Given the description of an element on the screen output the (x, y) to click on. 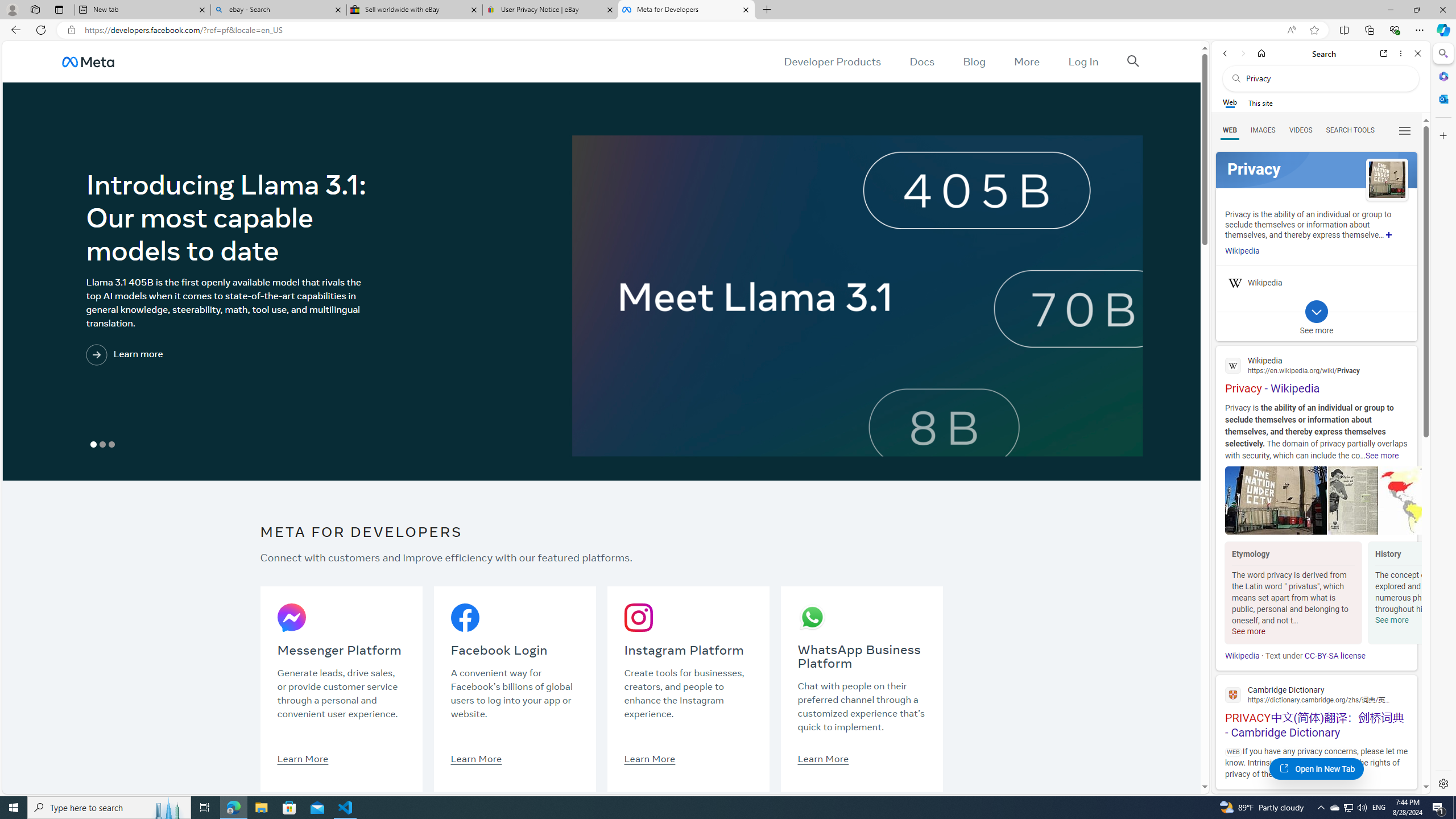
IMAGES (1262, 130)
WEB   (1230, 130)
Open link in new tab (1383, 53)
Show more (1388, 234)
Side bar (1443, 418)
Docs (922, 61)
AutomationID: u_0_25_3H (88, 61)
See more images of Privacy (1386, 179)
User Privacy Notice | eBay (550, 9)
This site scope (1259, 102)
